Given the description of an element on the screen output the (x, y) to click on. 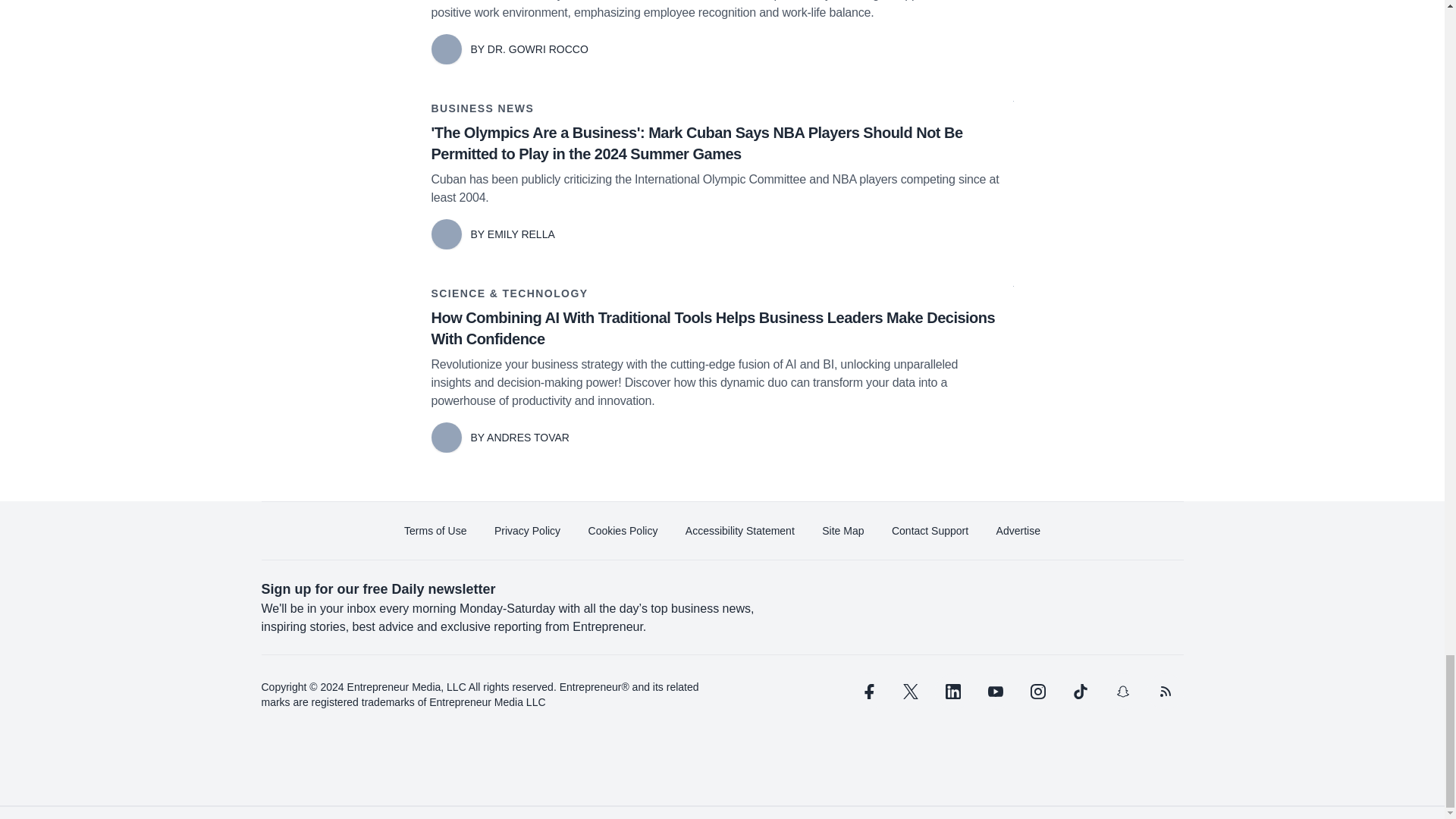
linkedin (952, 691)
twitter (909, 691)
instagram (1037, 691)
youtube (994, 691)
tiktok (1079, 691)
facebook (866, 691)
snapchat (1121, 691)
